Given the description of an element on the screen output the (x, y) to click on. 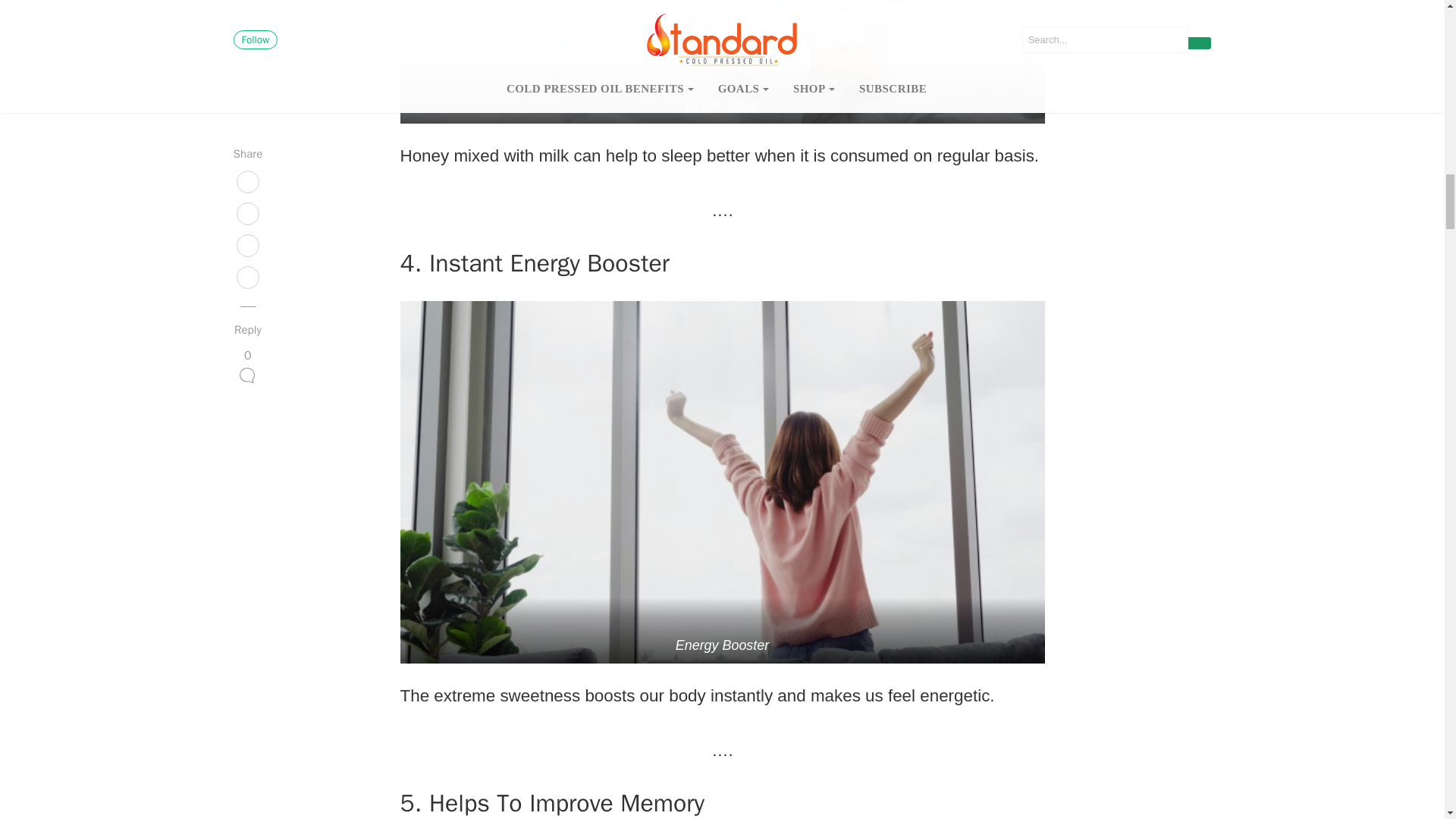
14 Must- Know Benefits Of Honey! 3 (722, 61)
